Given the description of an element on the screen output the (x, y) to click on. 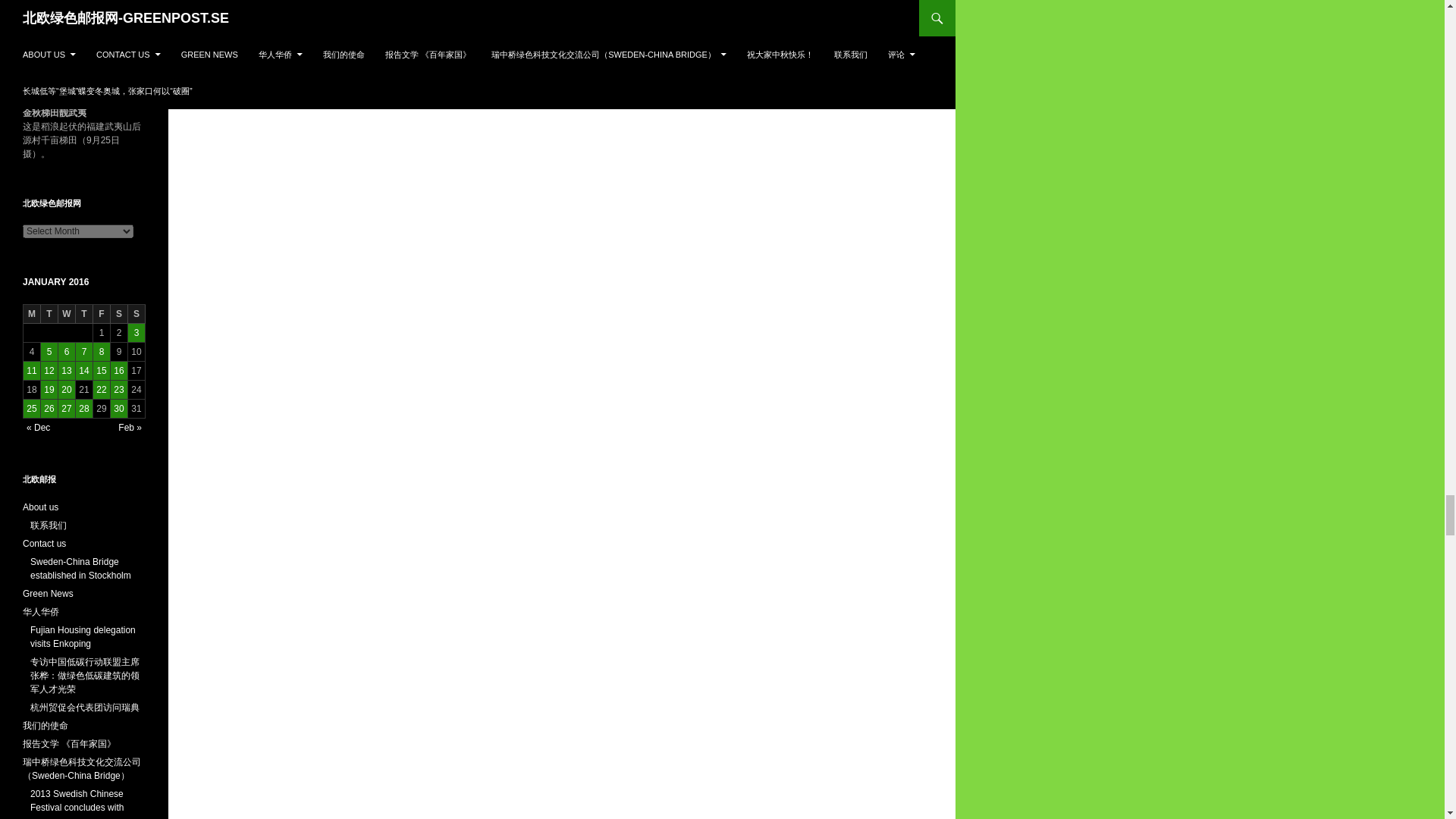
Monday (31, 313)
Saturday (119, 313)
Thursday (84, 313)
Friday (101, 313)
Wednesday (66, 313)
Tuesday (49, 313)
